Given the description of an element on the screen output the (x, y) to click on. 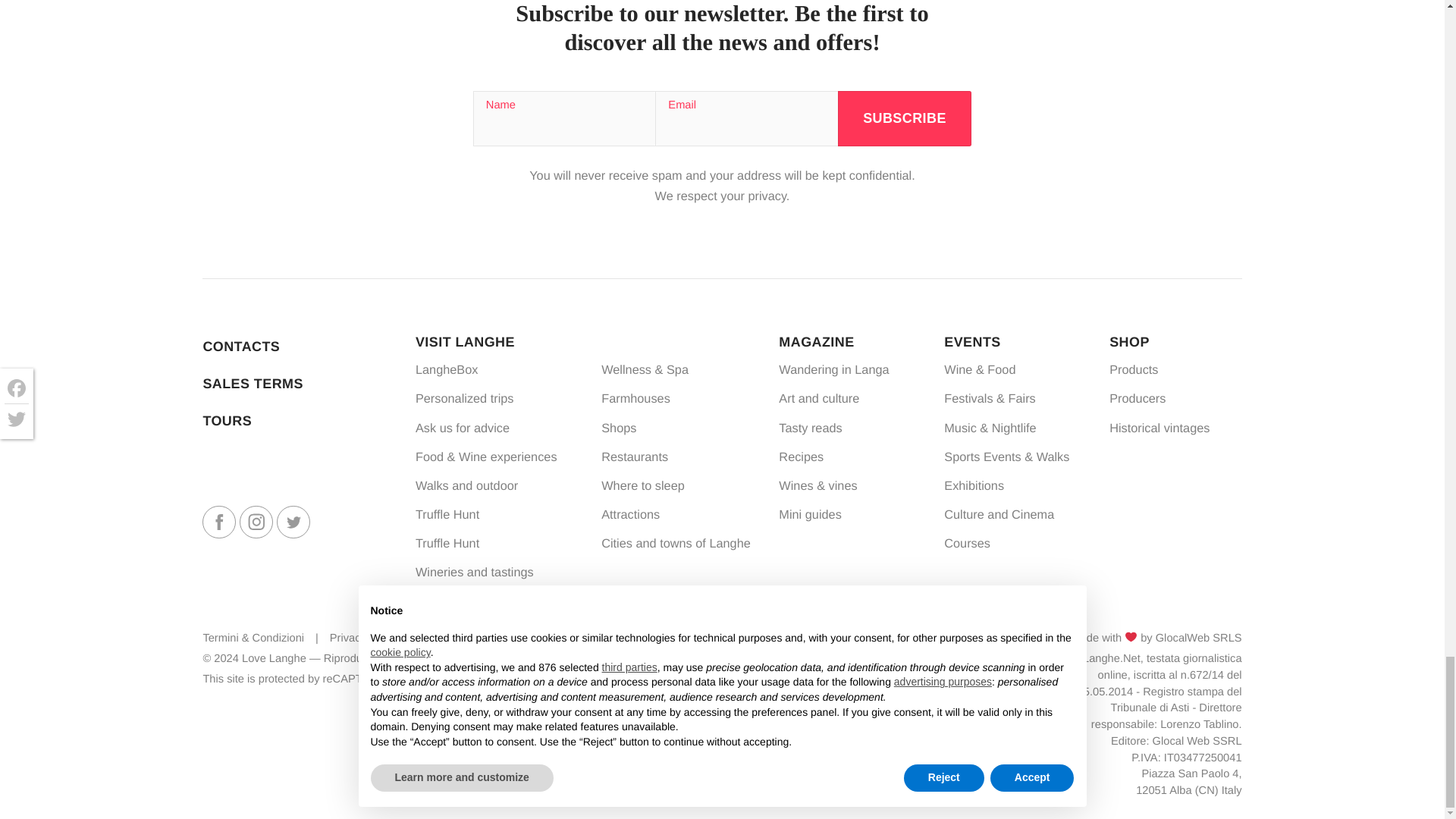
Subscribe (905, 118)
